Given the description of an element on the screen output the (x, y) to click on. 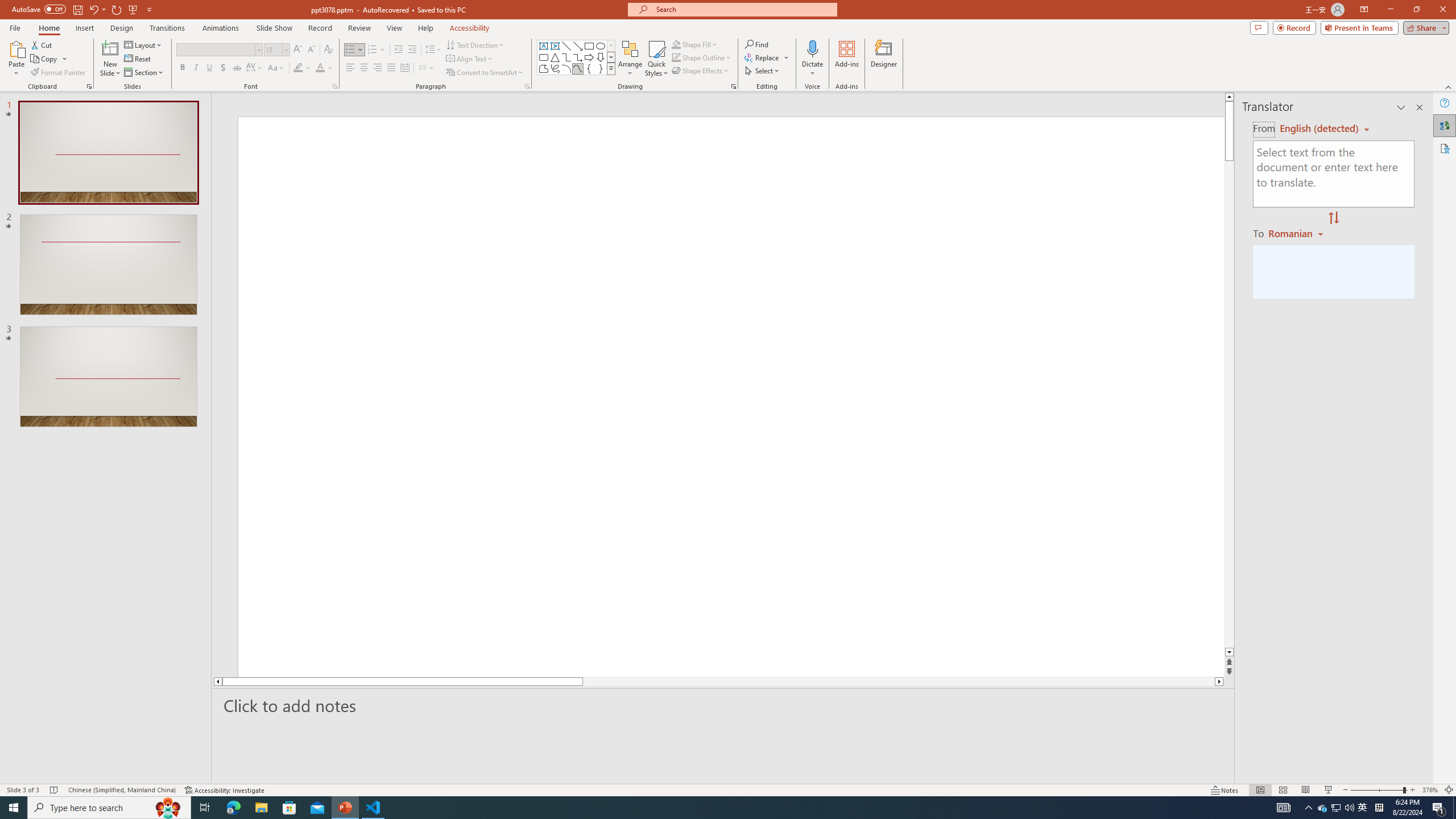
Shape Fill Dark Green, Accent 2 (675, 44)
